Given the description of an element on the screen output the (x, y) to click on. 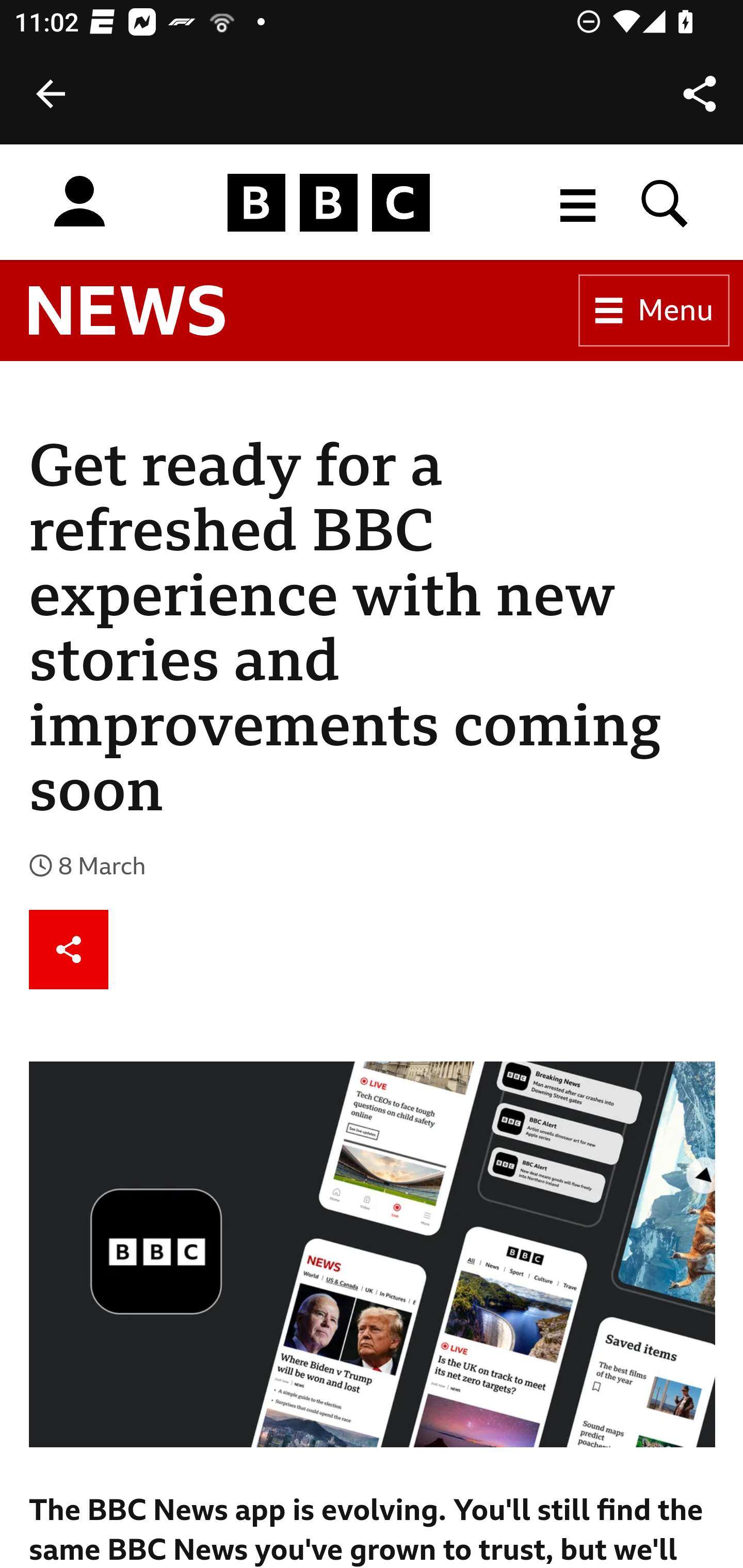
Back (50, 93)
Share (699, 93)
Sign in (79, 202)
BBC Homepage (329, 202)
More menu (578, 202)
Search BBC (665, 202)
BBC News (126, 311)
Share (68, 949)
